Given the description of an element on the screen output the (x, y) to click on. 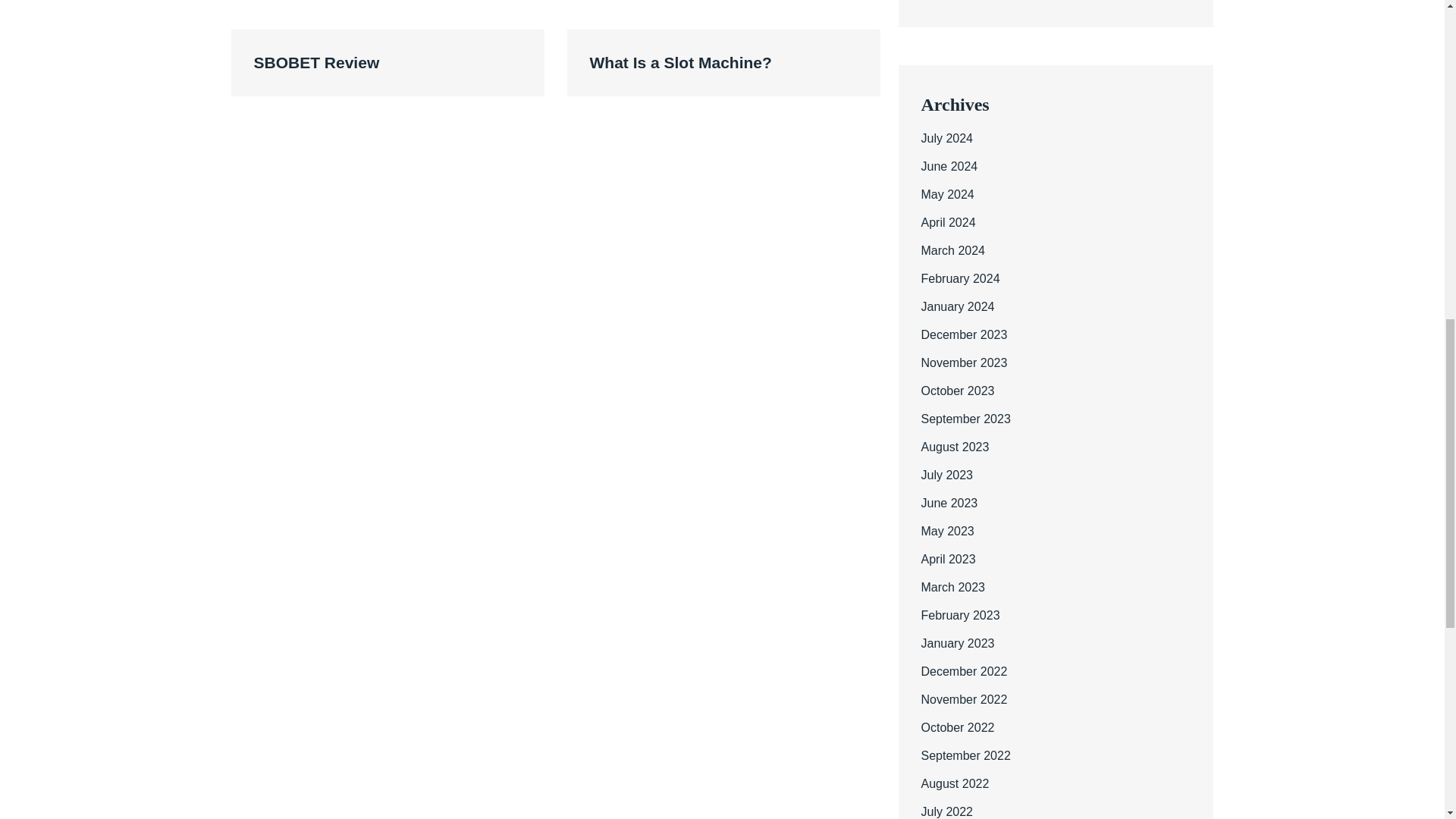
September 2023 (965, 418)
May 2023 (947, 530)
July 2024 (946, 137)
October 2023 (957, 390)
March 2023 (952, 586)
May 2024 (947, 194)
June 2023 (948, 502)
March 2024 (952, 250)
November 2023 (963, 362)
February 2024 (959, 278)
SBOBET Review (386, 62)
January 2023 (957, 643)
February 2023 (959, 615)
April 2023 (947, 558)
July 2023 (946, 474)
